Given the description of an element on the screen output the (x, y) to click on. 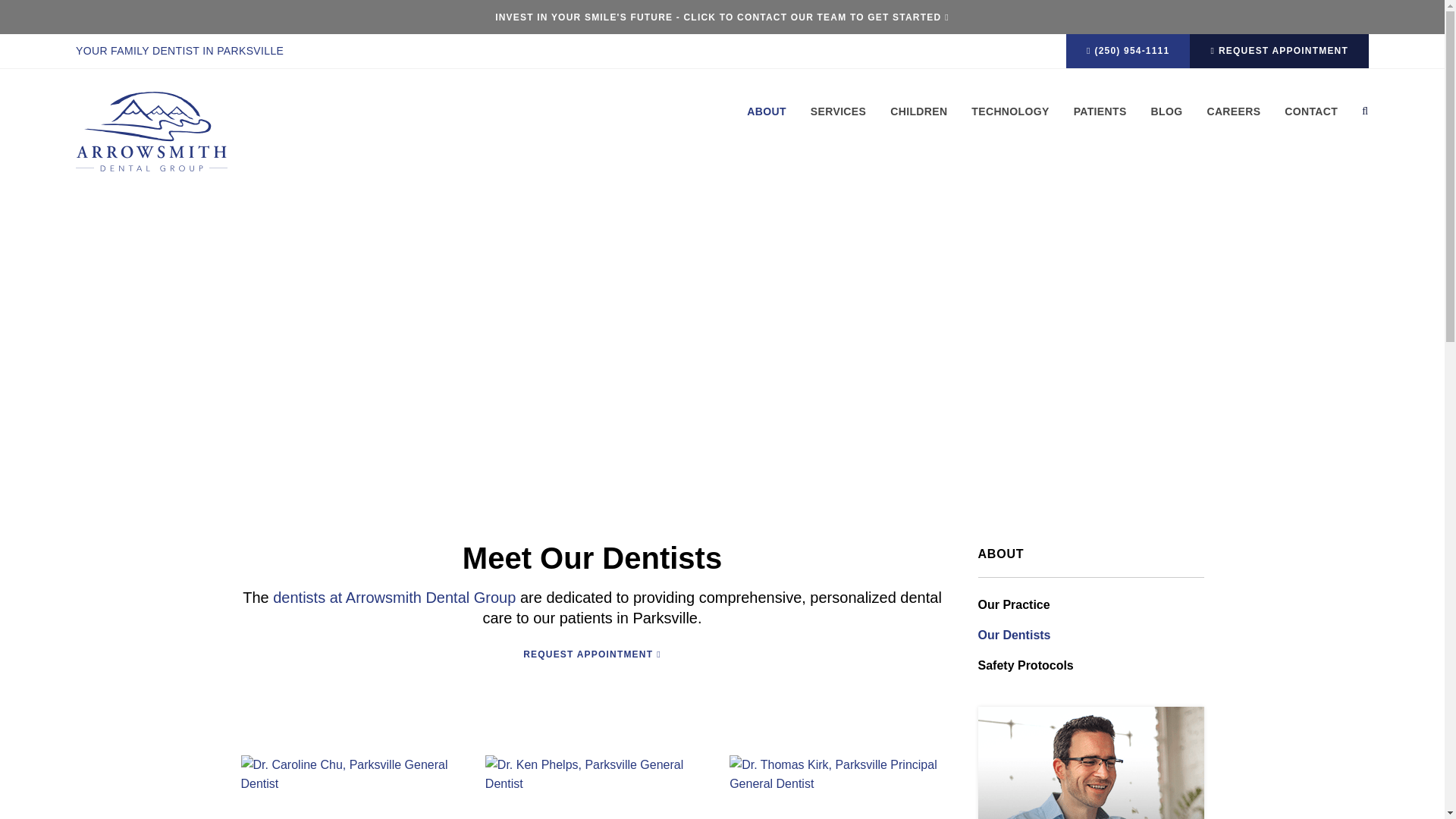
REQUEST APPOINTMENT Element type: text (1278, 51)
REQUEST APPOINTMENT Element type: text (592, 654)
(250) 954-1111 Element type: text (1127, 51)
CONTACT Element type: text (1310, 122)
YOUR FAMILY DENTIST IN PARKSVILLE Element type: text (179, 51)
PATIENTS Element type: text (1100, 122)
CHILDREN Element type: text (918, 122)
BLOG Element type: text (1167, 122)
CAREERS Element type: text (1233, 122)
Our Dentists Element type: text (1091, 635)
Safety Protocols Element type: text (1091, 665)
SERVICES Element type: text (838, 122)
Our Practice Element type: text (1091, 604)
SEARCH Element type: text (1358, 122)
dentists at Arrowsmith Dental Group Element type: text (394, 596)
TECHNOLOGY Element type: text (1009, 122)
ABOUT Element type: text (772, 122)
